Given the description of an element on the screen output the (x, y) to click on. 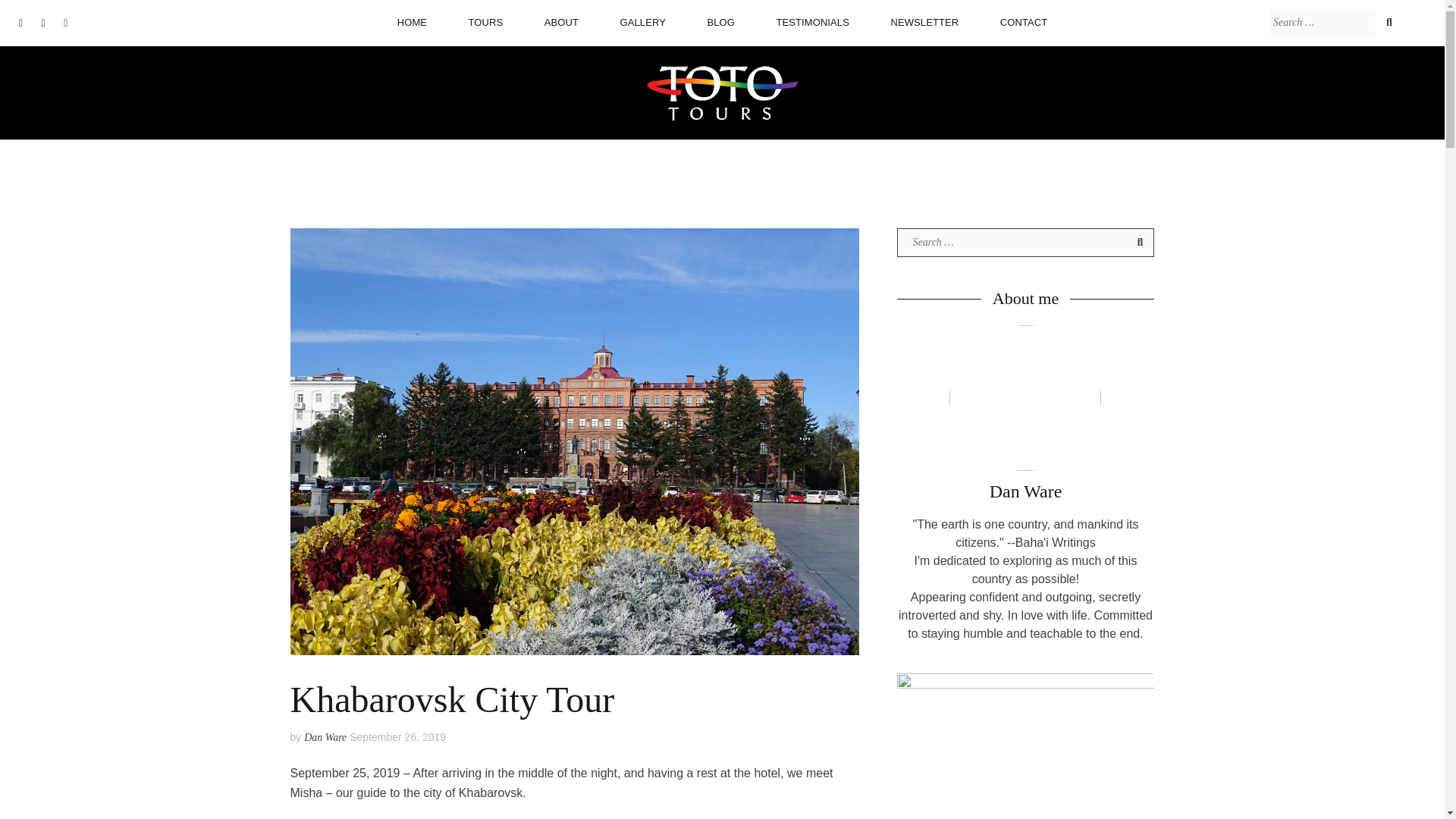
NEWSLETTER (923, 22)
September 26, 2019 (397, 736)
BLOG (720, 22)
HOME (411, 22)
GALLERY (642, 22)
ABOUT (560, 22)
CONTACT (1024, 22)
Dan Ware (325, 736)
TOURS (485, 22)
TESTIMONIALS (812, 22)
